Given the description of an element on the screen output the (x, y) to click on. 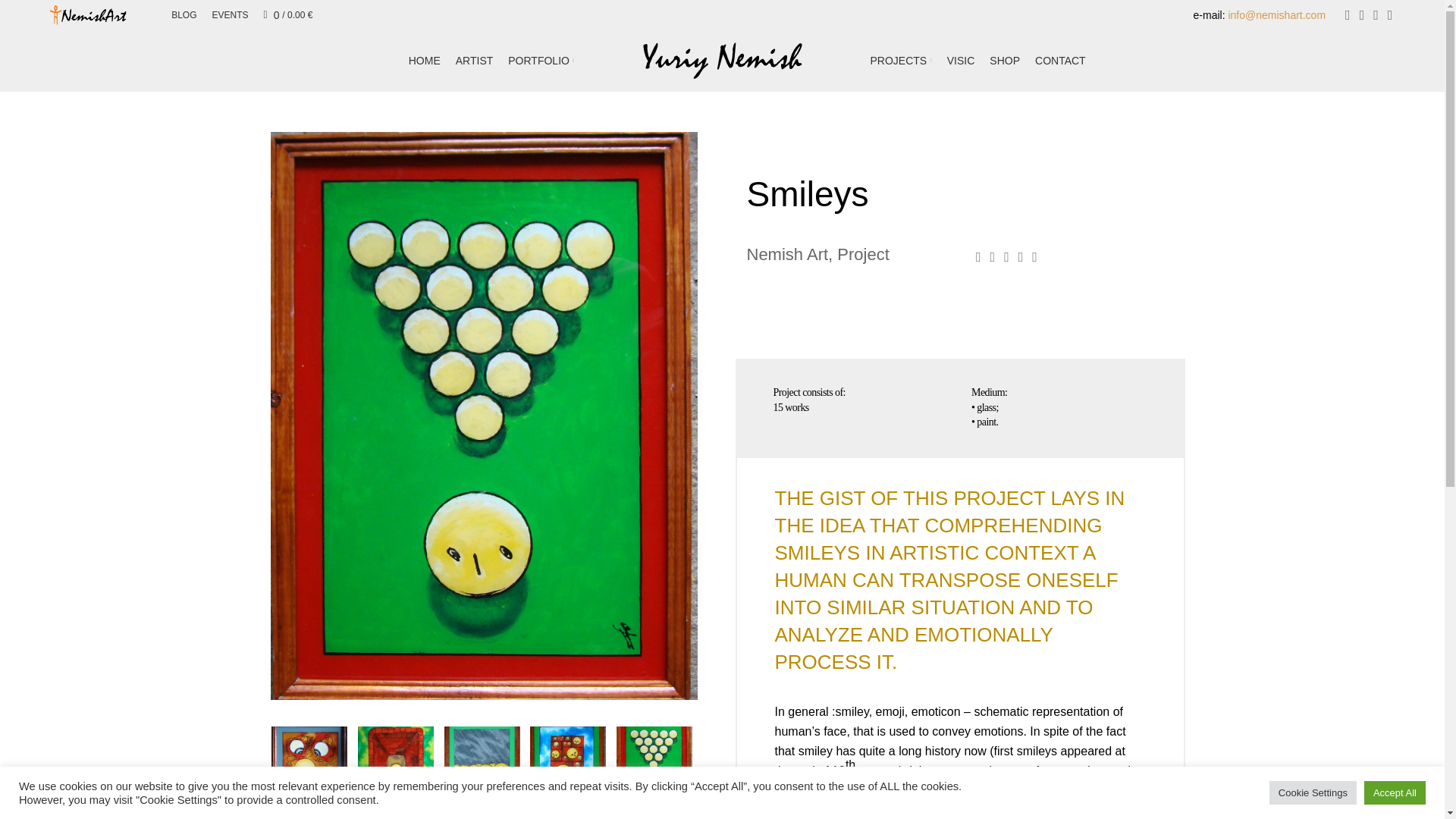
PORTFOLIO (540, 60)
PROJECTS (900, 60)
CONTACT (1060, 60)
HOME (425, 60)
EVENTS (230, 15)
Shopping cart (288, 15)
VISIC (961, 60)
ARTIST (474, 60)
SHOP (1005, 60)
